Given the description of an element on the screen output the (x, y) to click on. 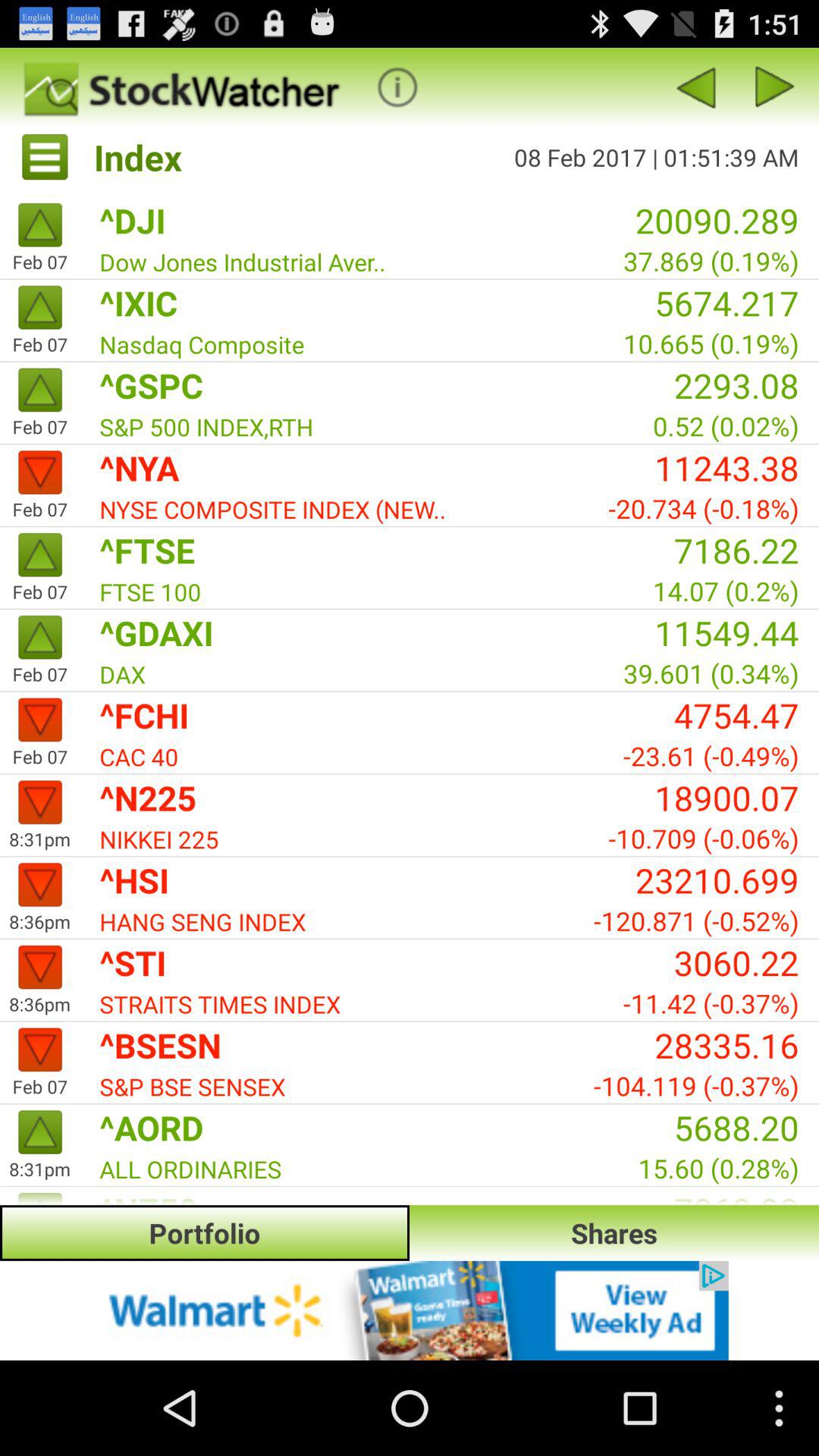
go to lest (775, 87)
